Given the description of an element on the screen output the (x, y) to click on. 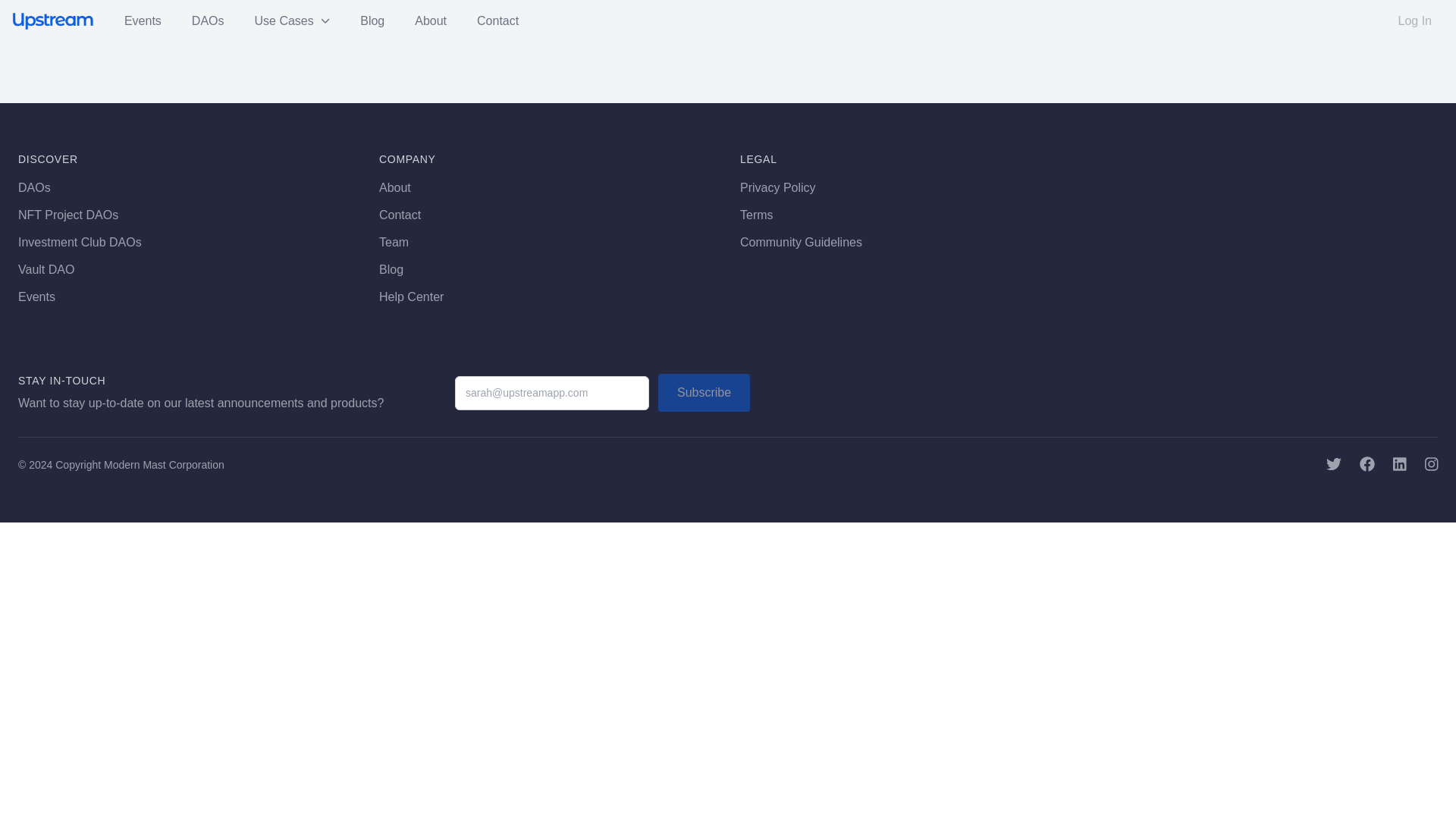
Blog (390, 269)
Blog (371, 21)
About (394, 187)
Privacy Policy (777, 187)
Help Center (411, 296)
DAOs (33, 187)
Contact (399, 214)
Terms (756, 214)
Team (393, 241)
About (430, 21)
